Given the description of an element on the screen output the (x, y) to click on. 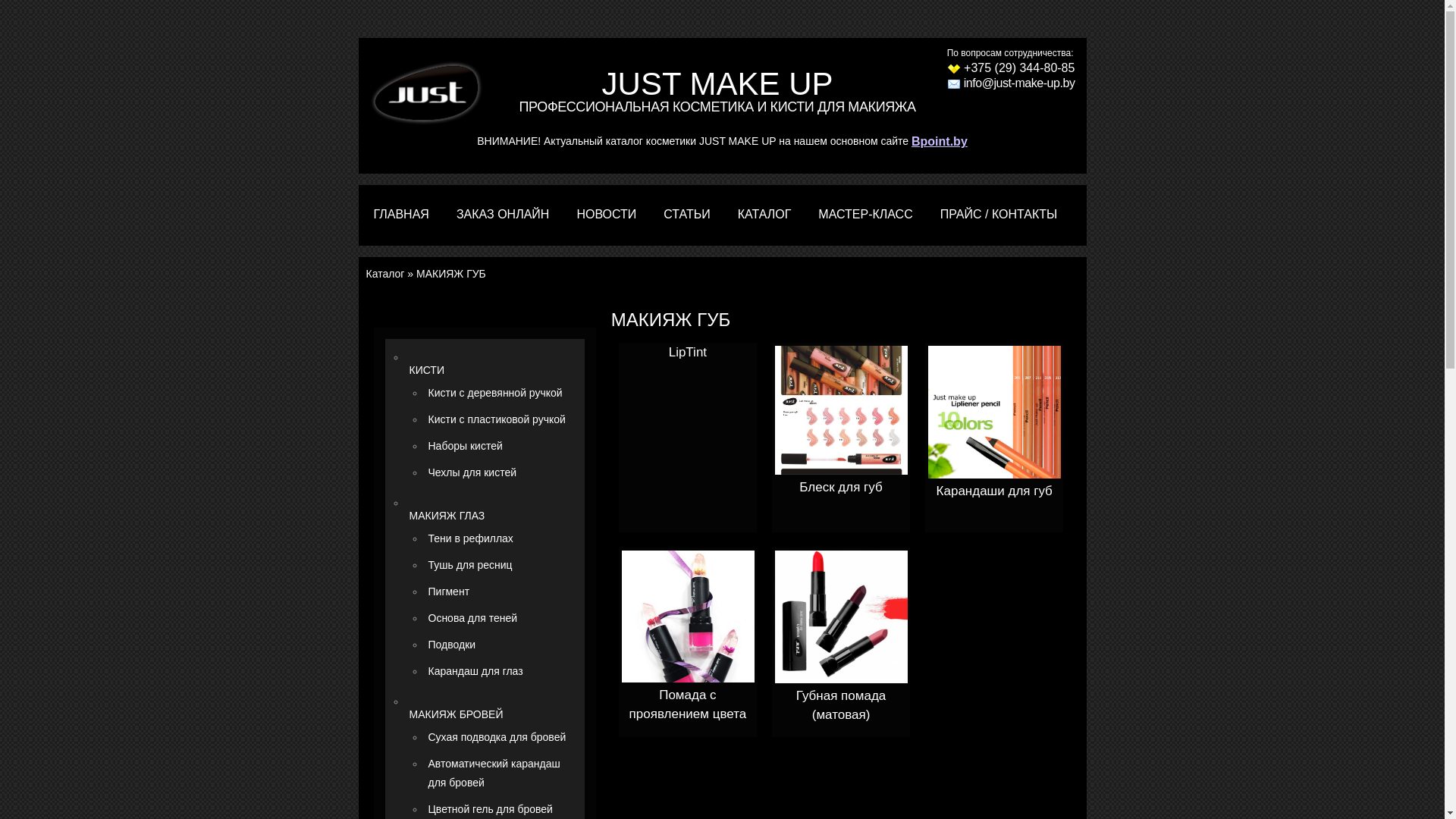
Bpoint.by Element type: text (939, 140)
LipTint Element type: text (687, 351)
info@just-make-up.by Element type: text (1011, 82)
